Given the description of an element on the screen output the (x, y) to click on. 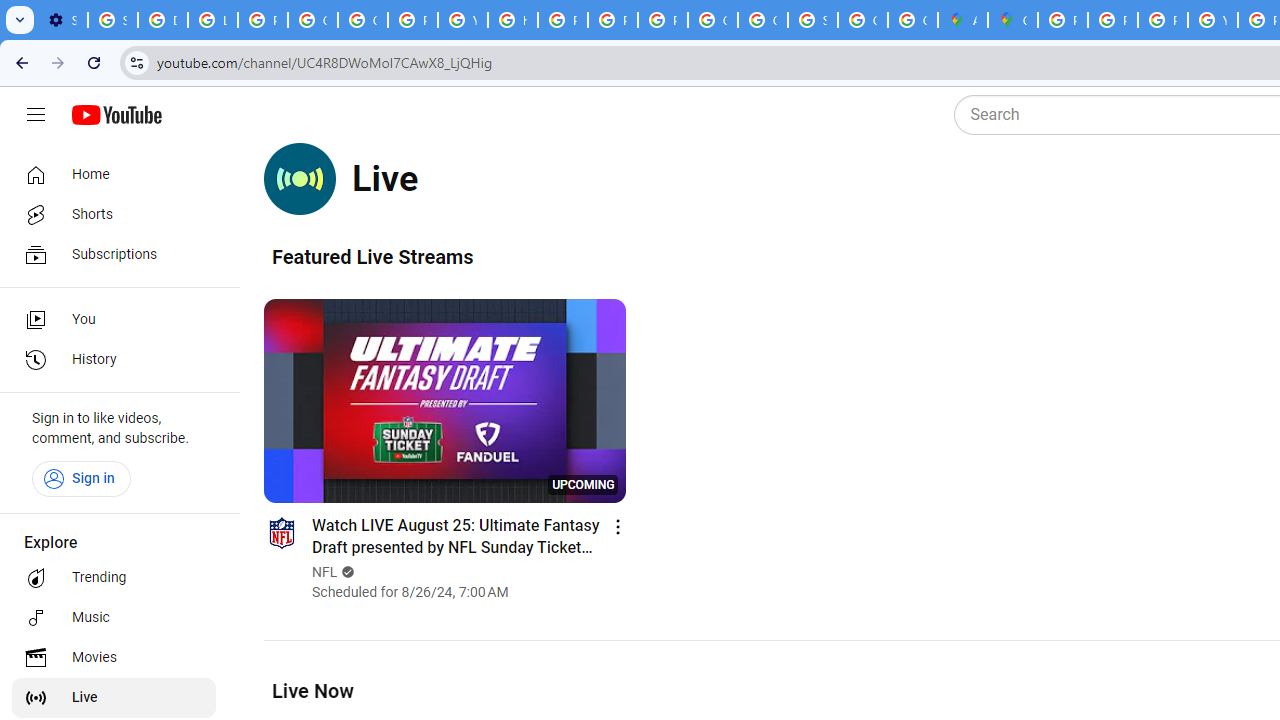
Google Account Help (312, 20)
Policy Accountability and Transparency - Transparency Center (1062, 20)
Sign in - Google Accounts (813, 20)
Guide (35, 115)
